Given the description of an element on the screen output the (x, y) to click on. 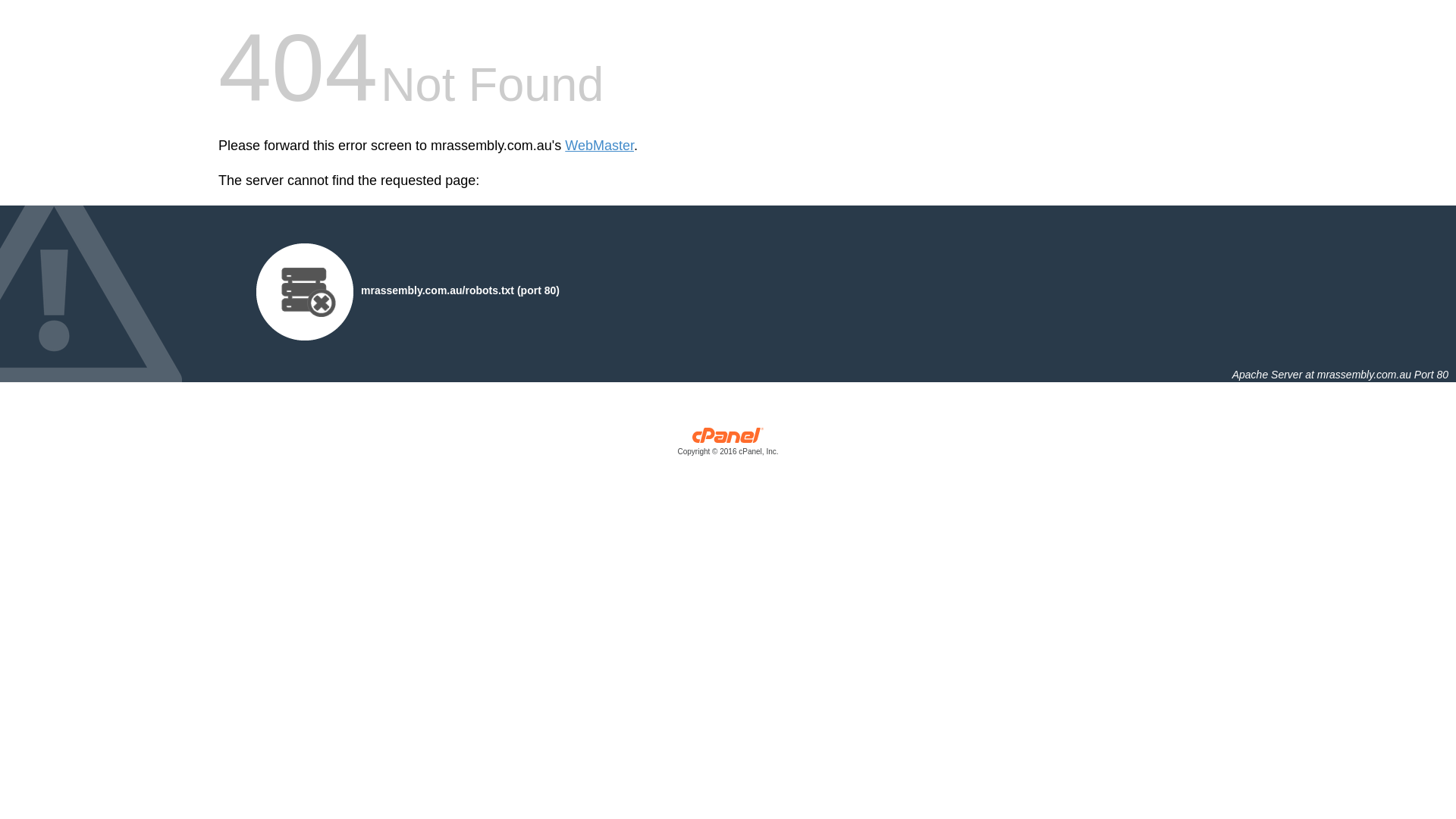
WebMaster Element type: text (598, 145)
